Given the description of an element on the screen output the (x, y) to click on. 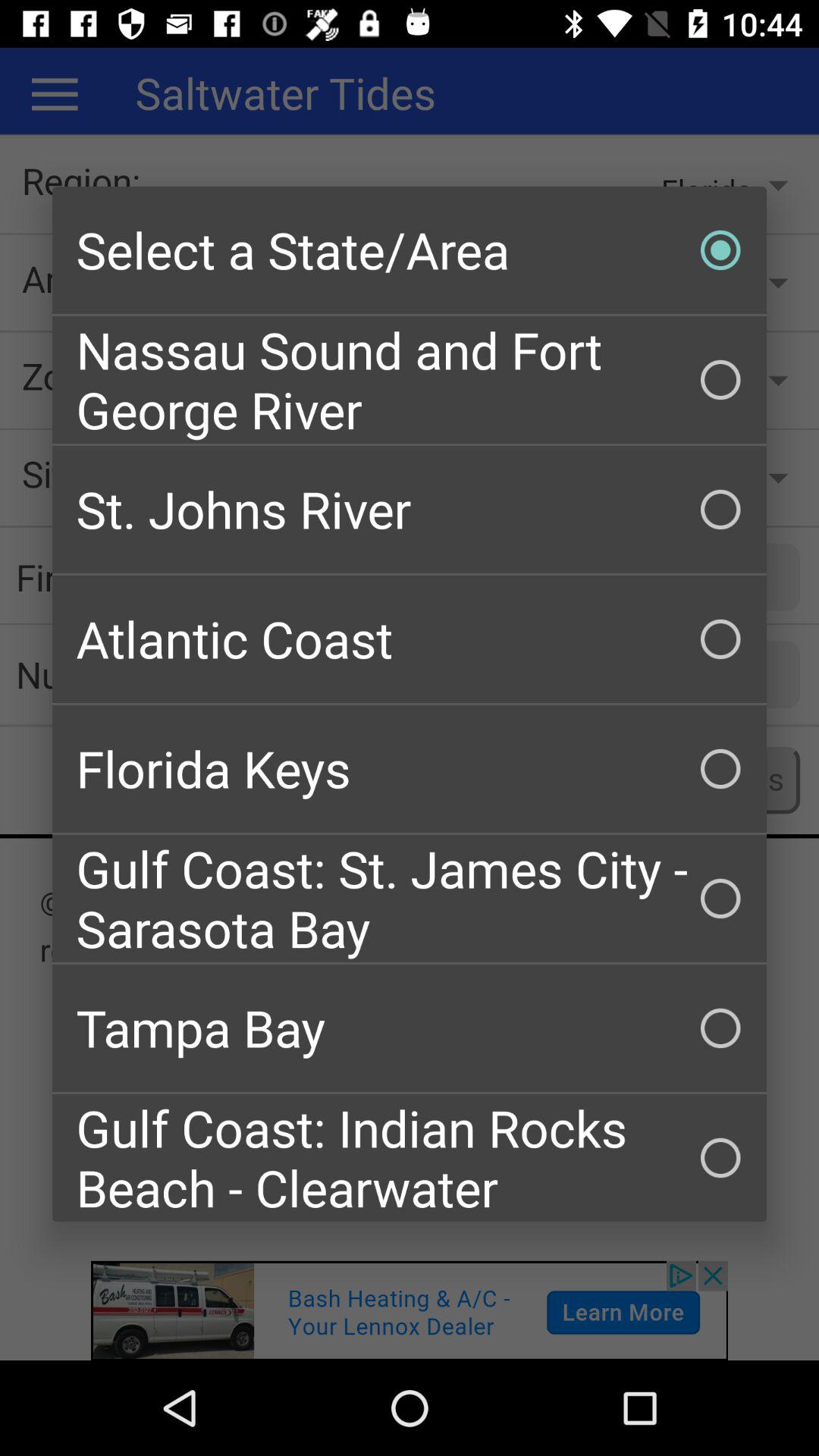
tap the icon above the st. johns river checkbox (409, 379)
